Given the description of an element on the screen output the (x, y) to click on. 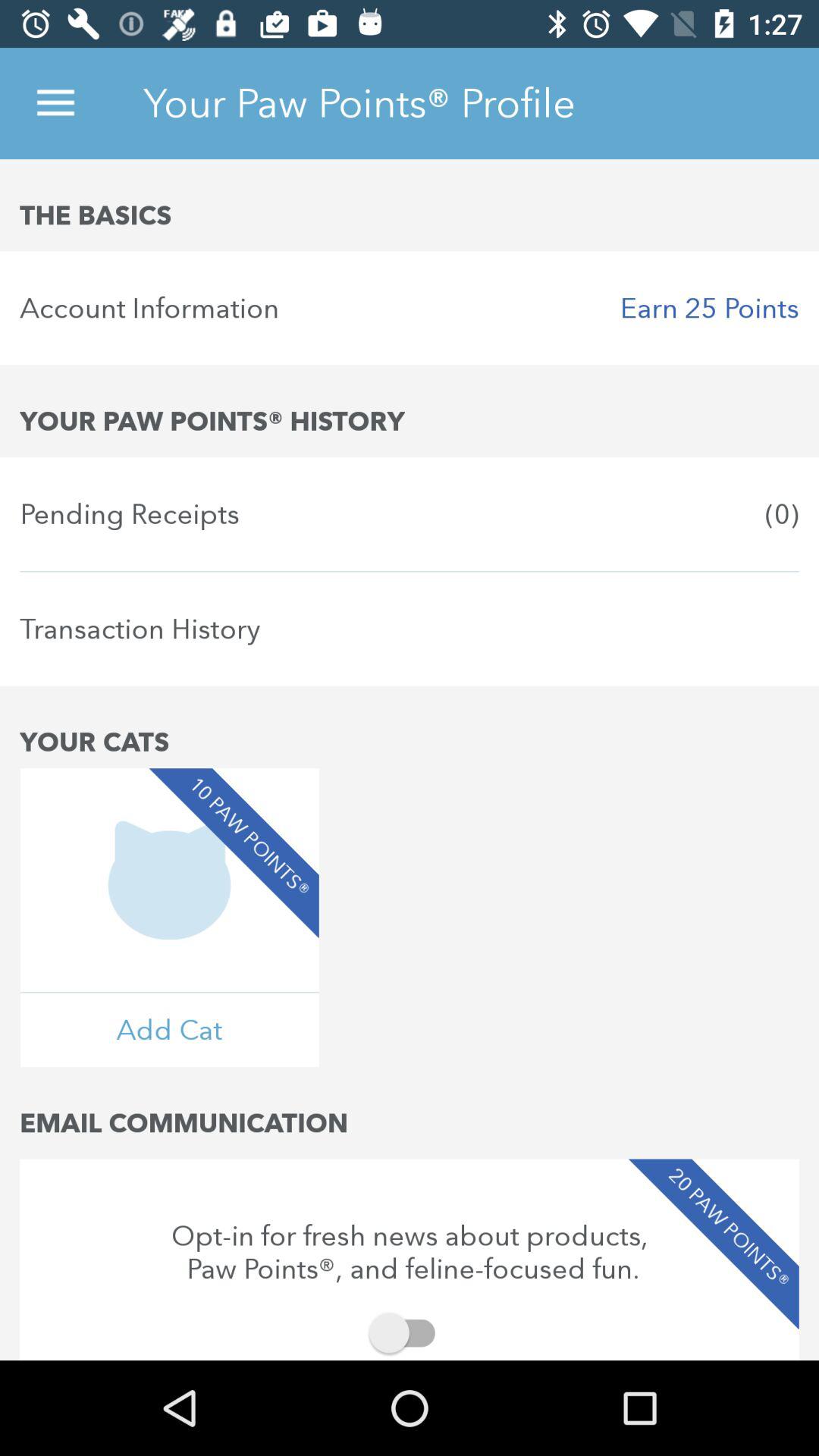
jump until the account information icon (409, 308)
